Given the description of an element on the screen output the (x, y) to click on. 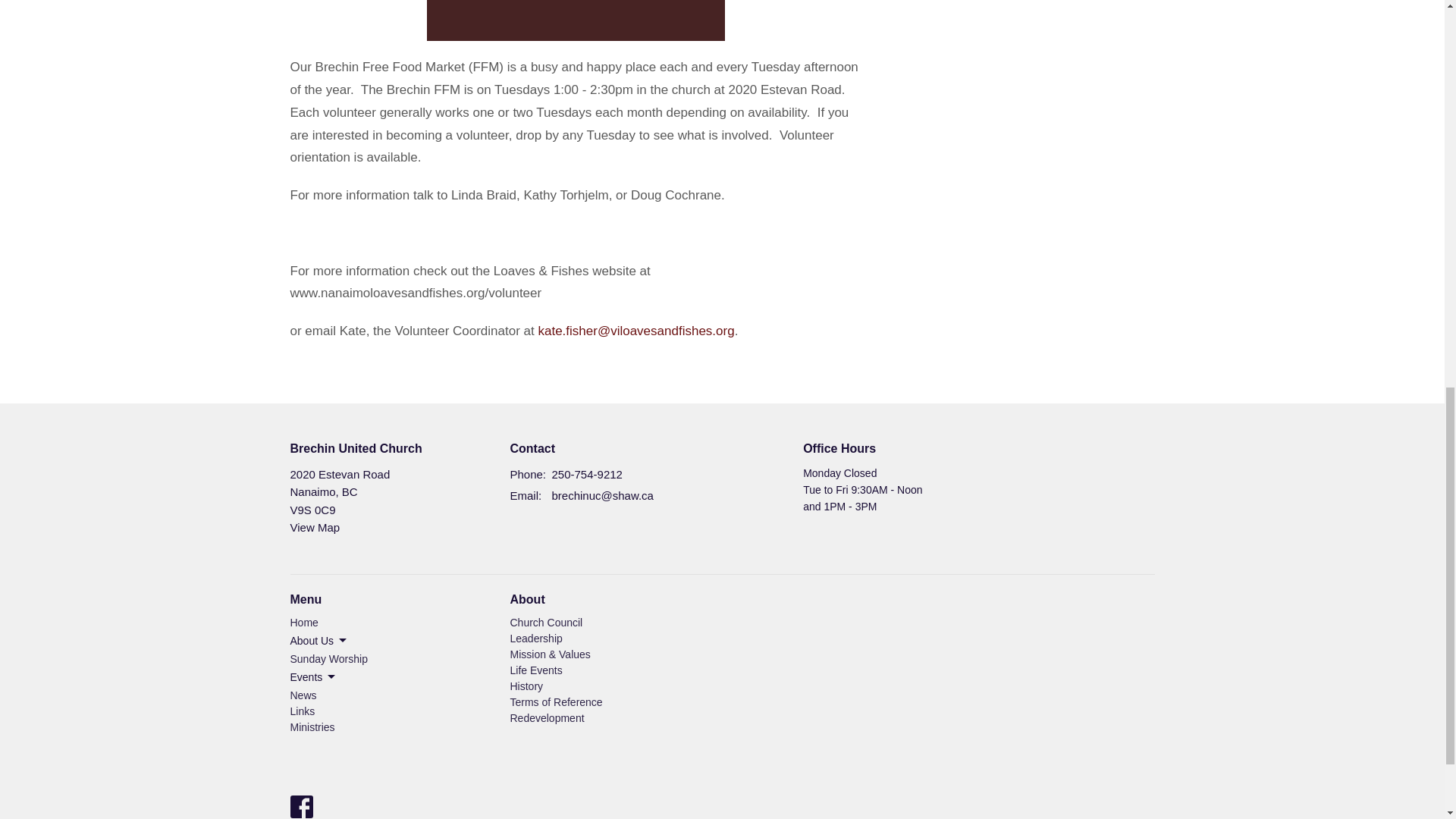
View Map (314, 526)
250-754-9212 (587, 474)
Home (303, 622)
translation missing: en.ui.email (523, 495)
About Us (319, 640)
